Given the description of an element on the screen output the (x, y) to click on. 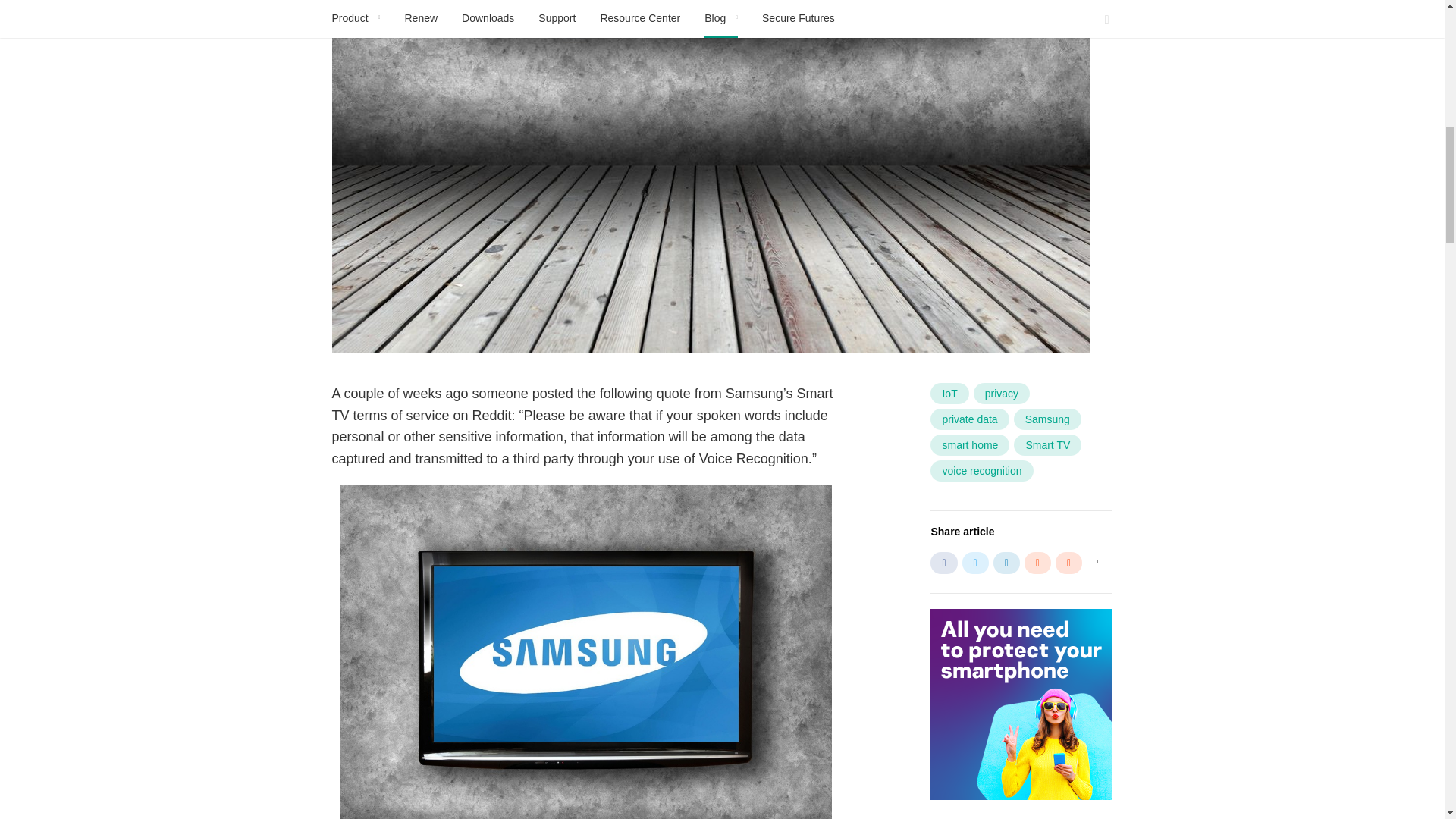
Share via Twitter (975, 563)
Share via LinkedIn (1006, 563)
Share via Facebook (943, 563)
Share via Reddit (1038, 563)
Share via HackerNews (1068, 563)
